Given the description of an element on the screen output the (x, y) to click on. 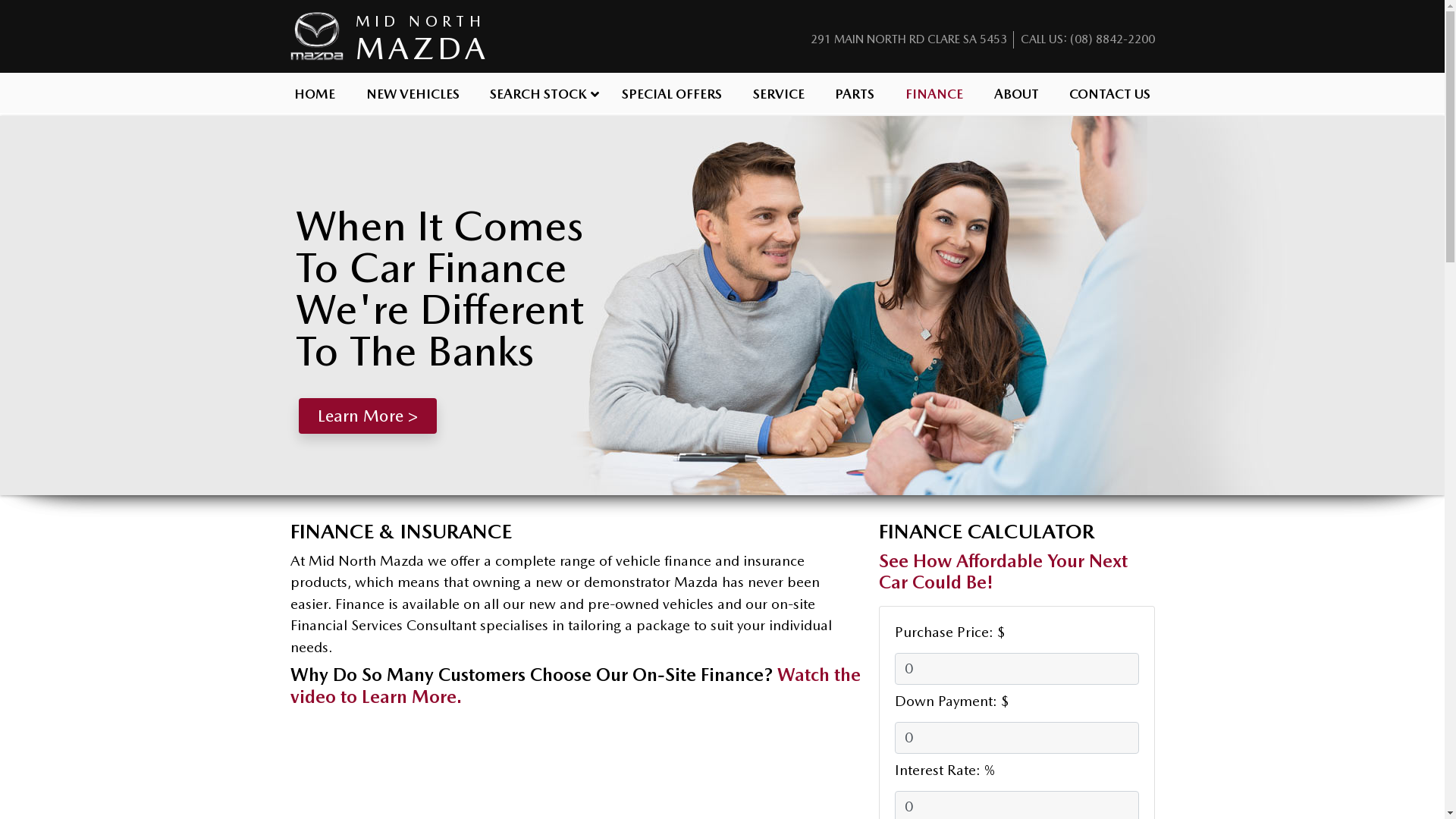
ABOUT Element type: text (1016, 92)
HOME Element type: text (315, 92)
SPECIAL OFFERS Element type: text (671, 92)
(08) 8842-2200 Element type: text (1111, 38)
FINANCE Element type: text (934, 92)
NEW VEHICLES Element type: text (412, 92)
PARTS Element type: text (854, 92)
Learn More > Element type: text (367, 415)
CONTACT US Element type: text (1110, 92)
SEARCH STOCK Element type: text (540, 92)
SERVICE Element type: text (778, 92)
